Given the description of an element on the screen output the (x, y) to click on. 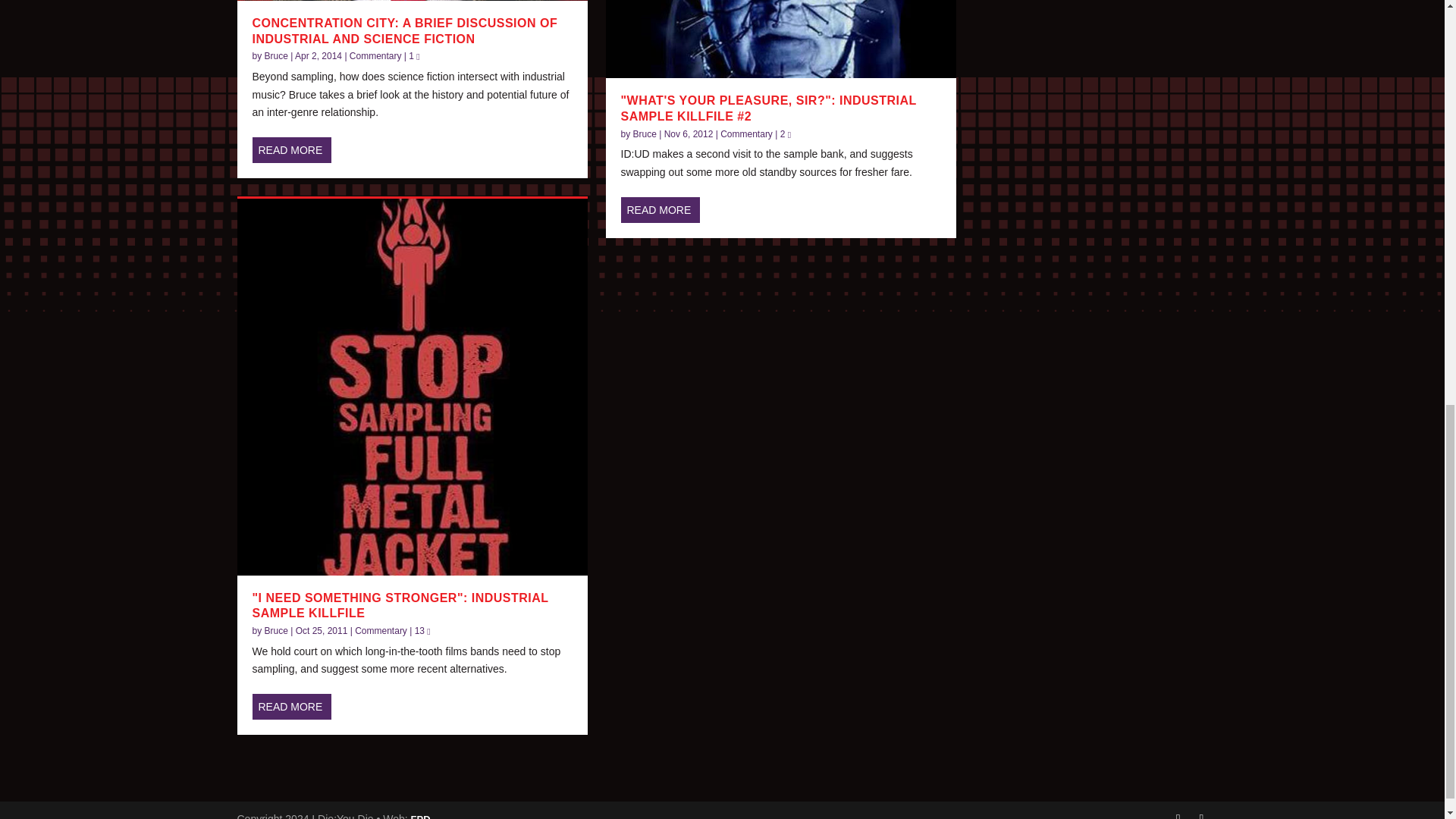
Posts by Bruce (276, 630)
13 (422, 630)
1 (414, 55)
Bruce (276, 630)
Posts by Bruce (644, 133)
Posts by Bruce (276, 55)
Commentary (381, 630)
READ MORE (291, 706)
"I NEED SOMETHING STRONGER": INDUSTRIAL SAMPLE KILLFILE (399, 605)
Commentary (375, 55)
Bruce (276, 55)
"I Need Something Stronger": Industrial Sample Killfile (410, 386)
READ MORE (291, 149)
